Given the description of an element on the screen output the (x, y) to click on. 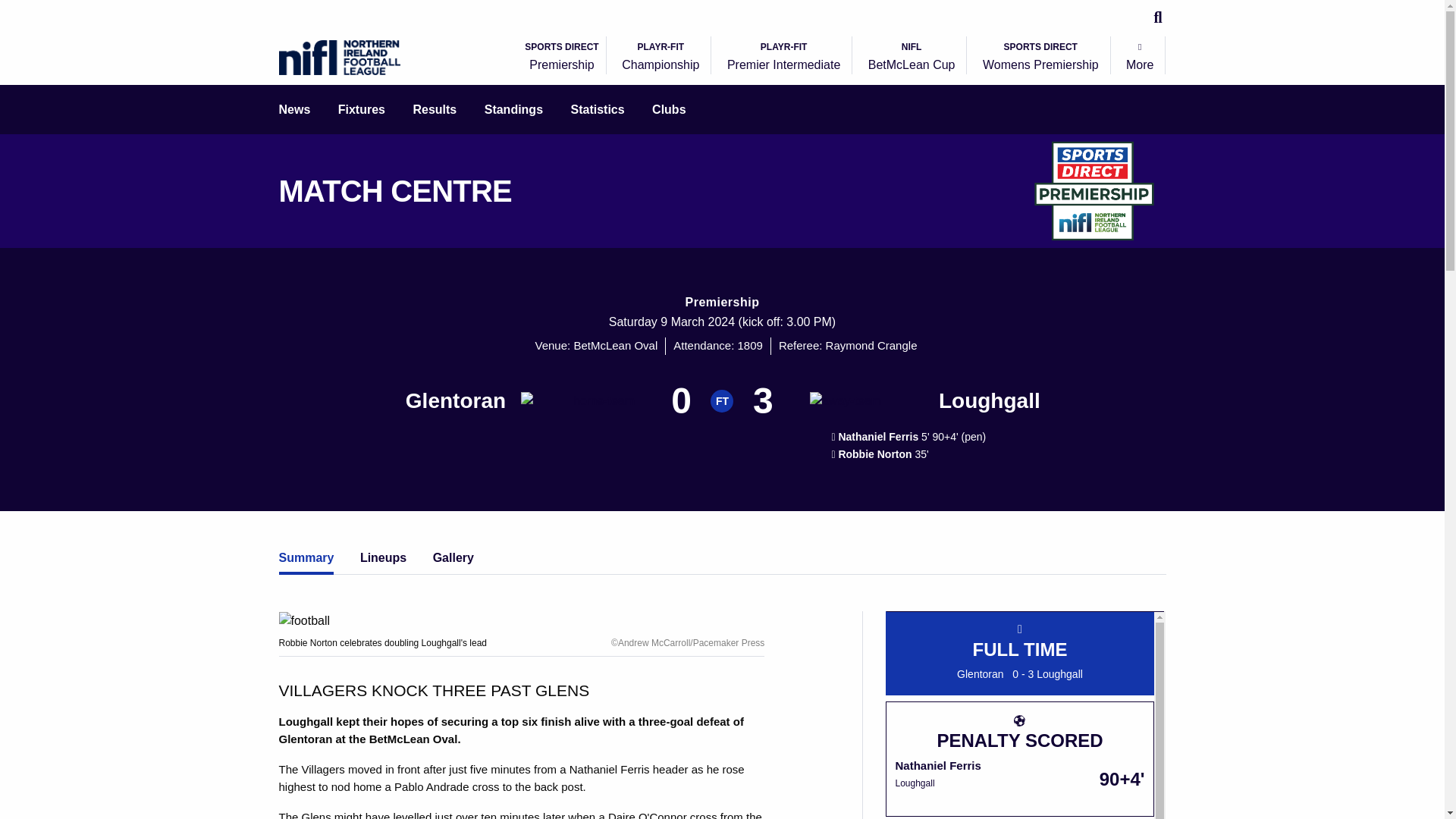
More (560, 57)
